Given the description of an element on the screen output the (x, y) to click on. 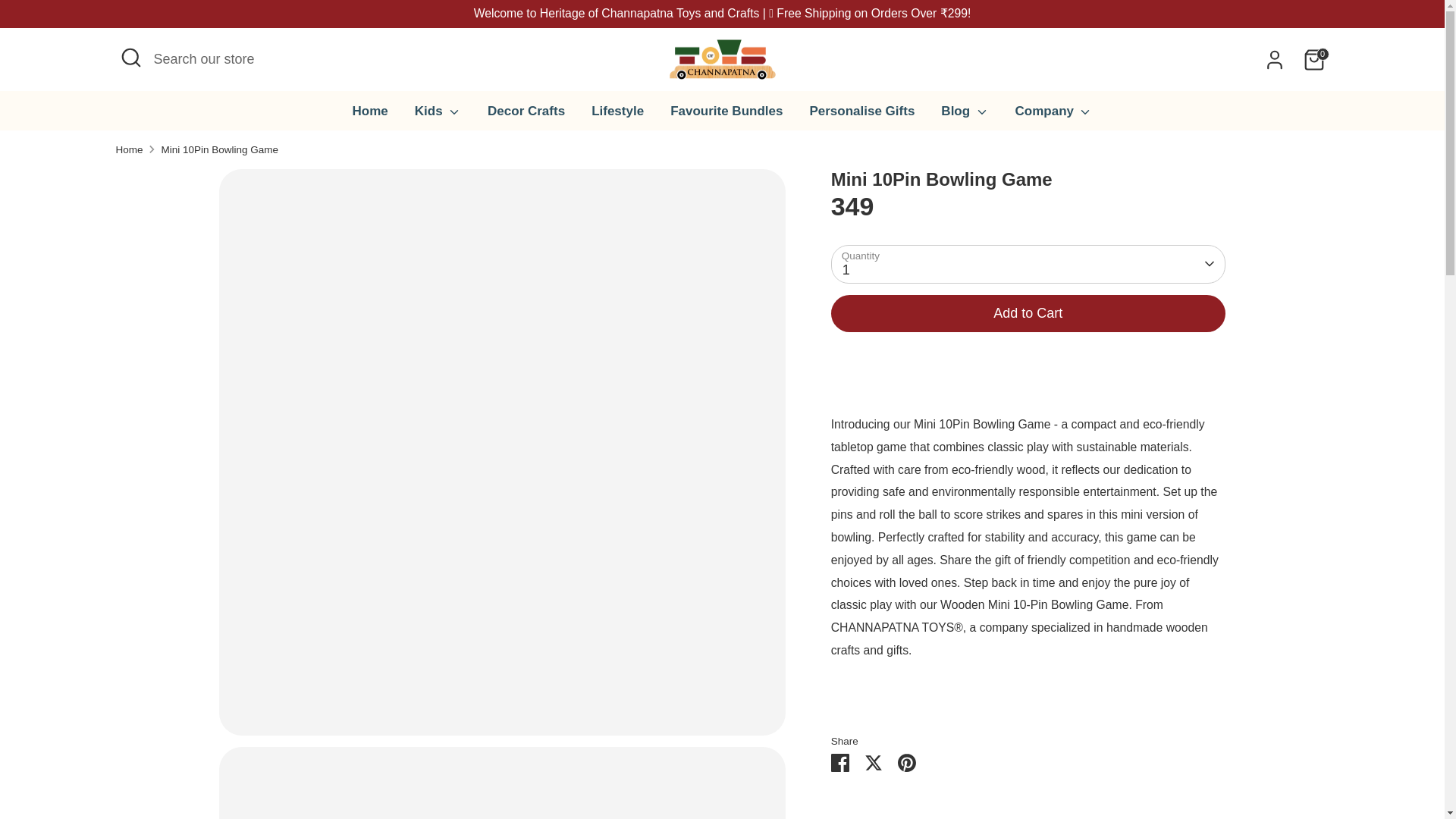
0 (1312, 60)
